Given the description of an element on the screen output the (x, y) to click on. 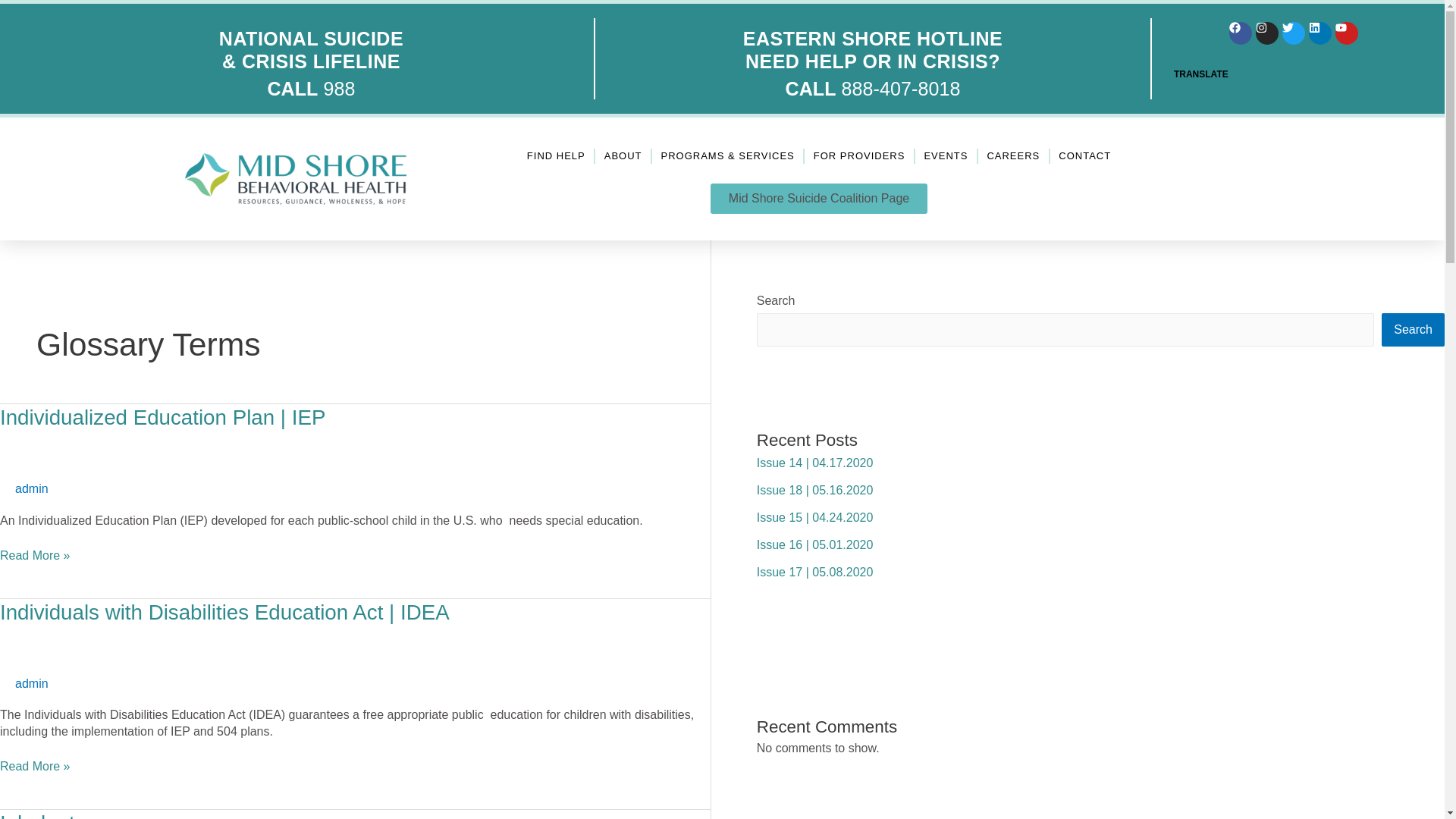
EASTERN SHORE HOTLINE (872, 38)
FIND HELP (556, 156)
Twitter (1293, 33)
888-407-8018 (900, 88)
CAREERS (1013, 156)
View all posts by admin (31, 488)
CONTACT (1084, 156)
988 (339, 88)
FOR PROVIDERS (859, 156)
Instagram (1266, 33)
